Given the description of an element on the screen output the (x, y) to click on. 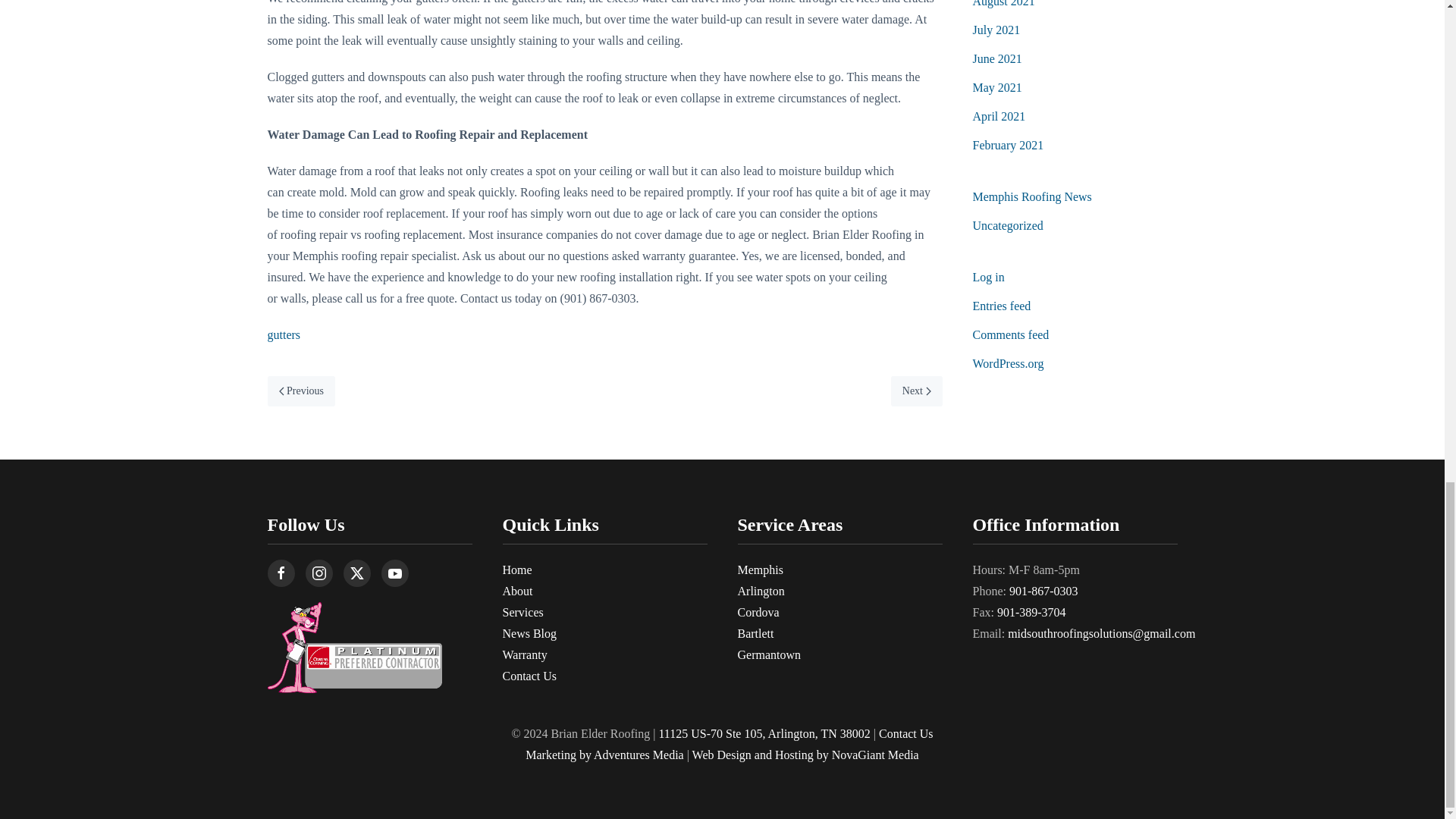
gutters (282, 334)
Previous (300, 390)
Next (916, 390)
